Given the description of an element on the screen output the (x, y) to click on. 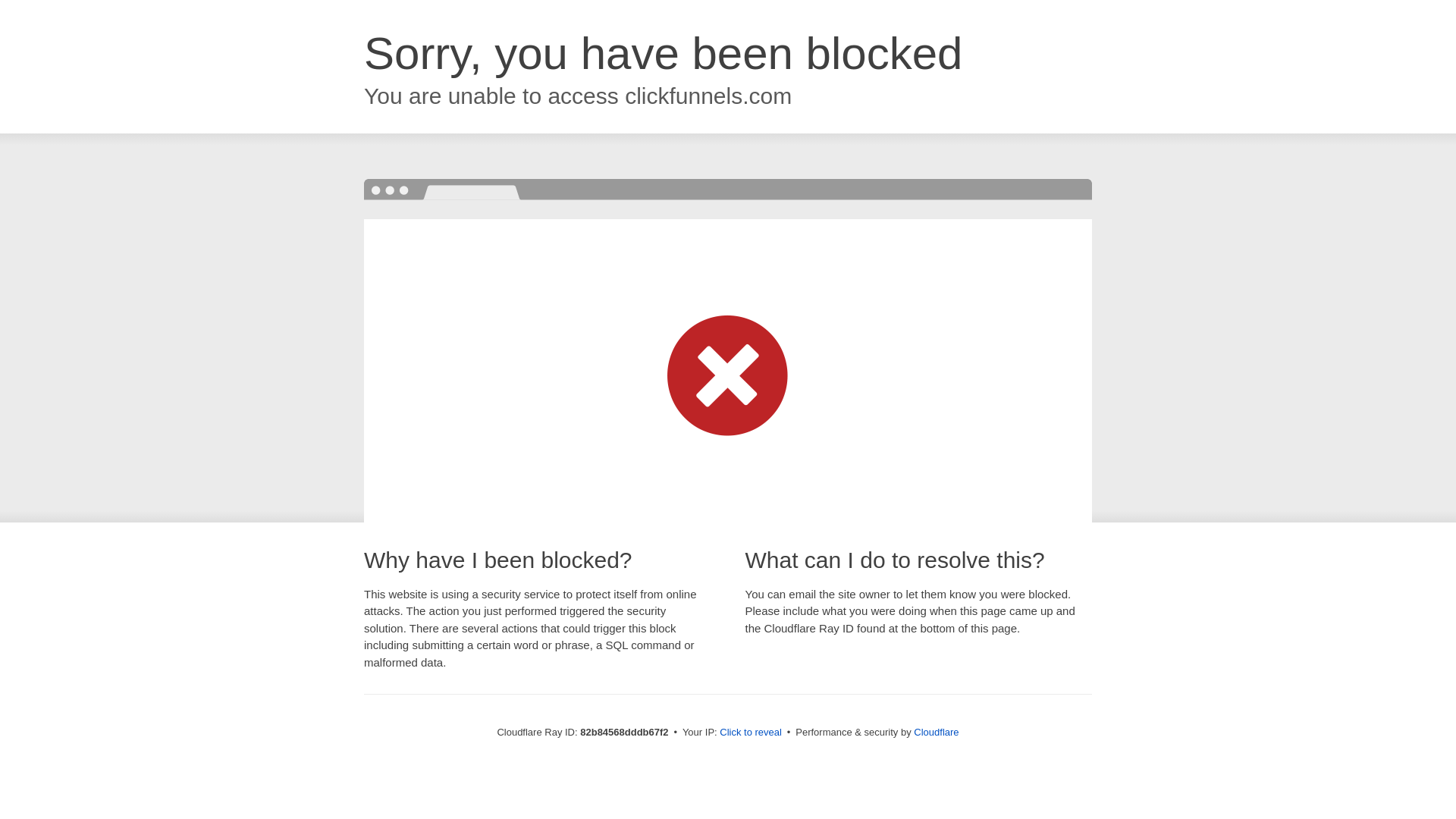
Cloudflare Element type: text (935, 731)
Click to reveal Element type: text (750, 732)
